Given the description of an element on the screen output the (x, y) to click on. 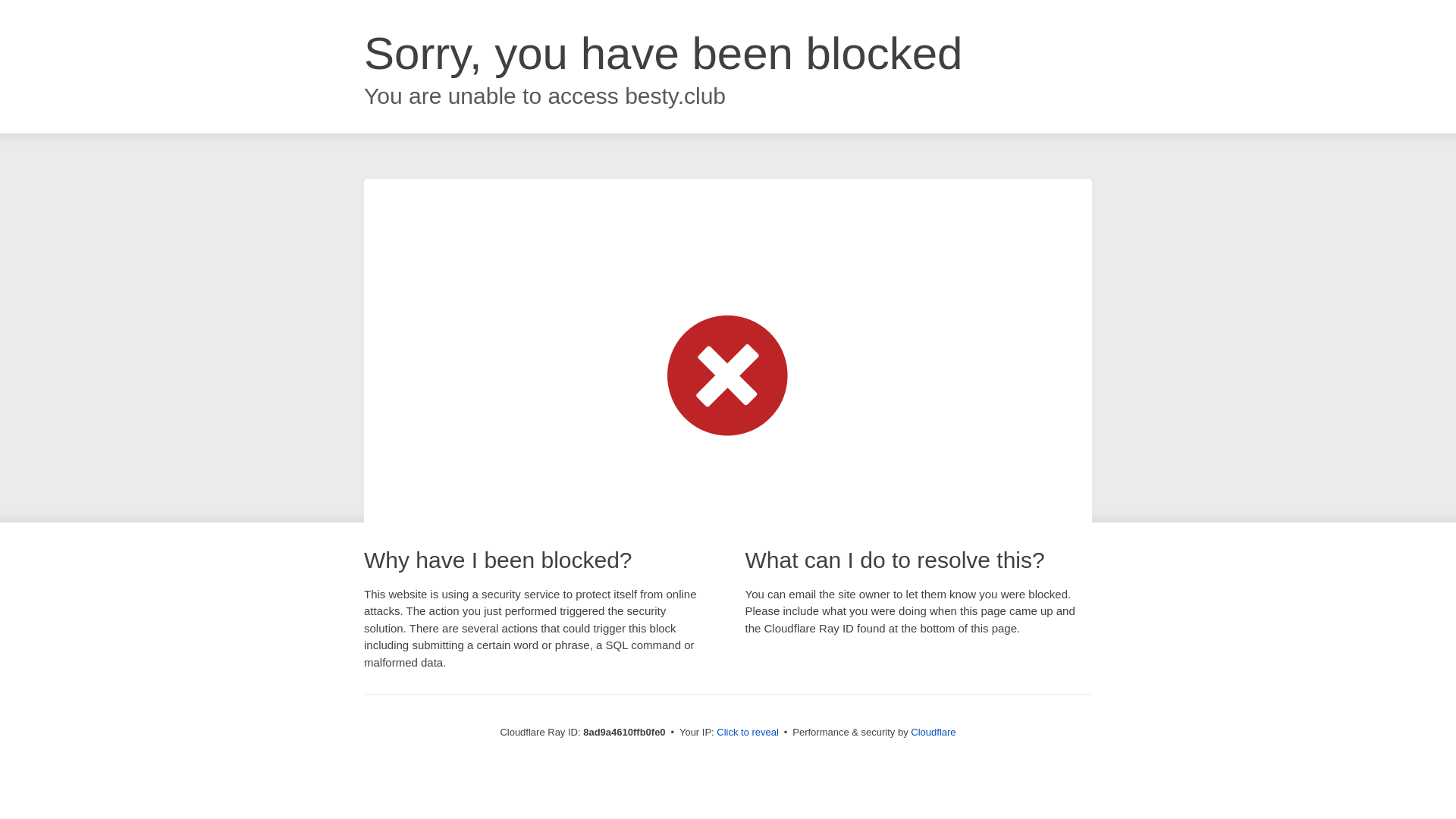
Click to reveal (747, 732)
Cloudflare (933, 731)
